Given the description of an element on the screen output the (x, y) to click on. 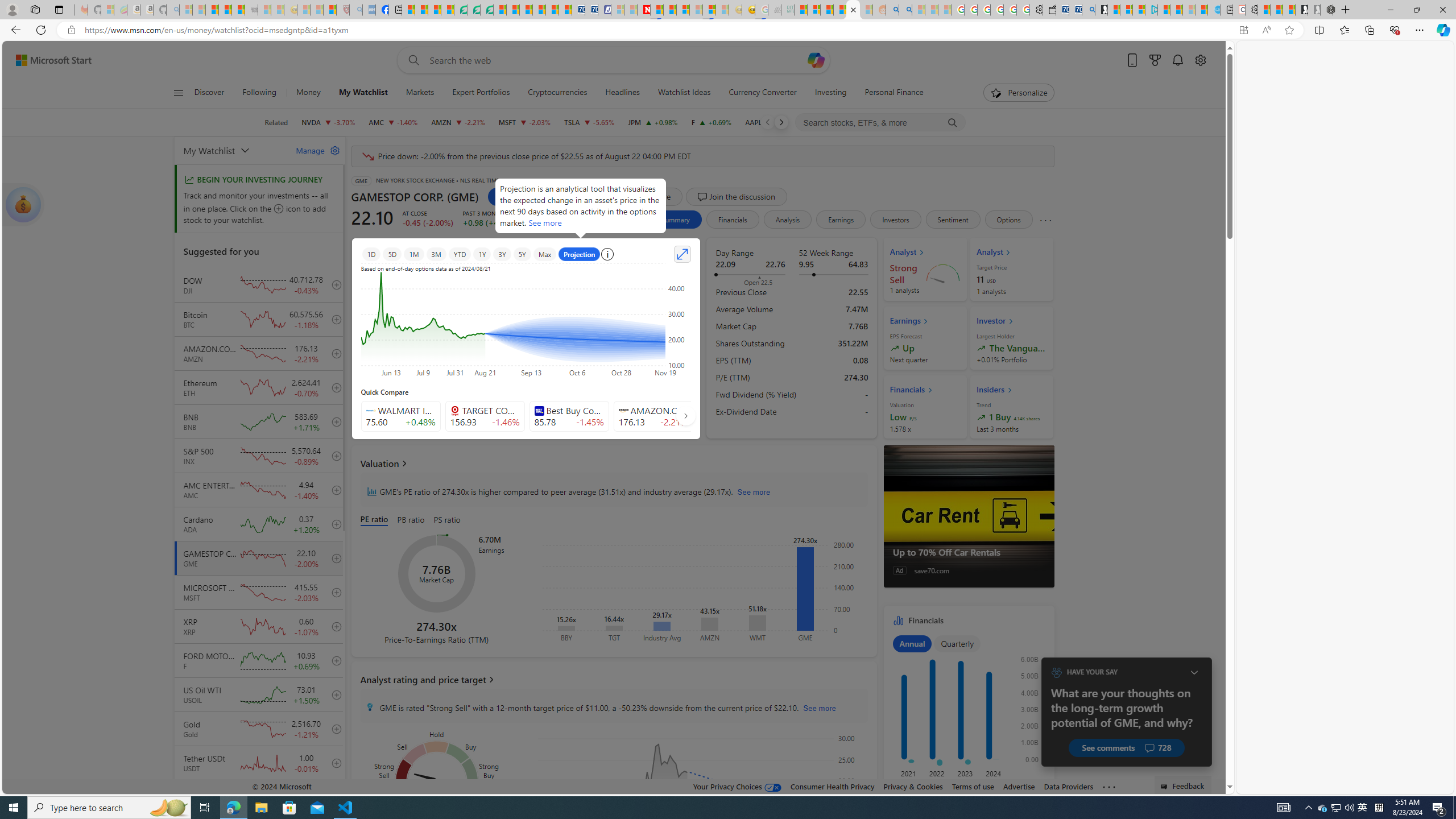
Class: chartSvg (966, 712)
Sentiment (952, 219)
Skip to content (49, 59)
Previous (767, 122)
Expert Portfolios (480, 92)
Compare (648, 196)
World - MSN (434, 9)
